Given the description of an element on the screen output the (x, y) to click on. 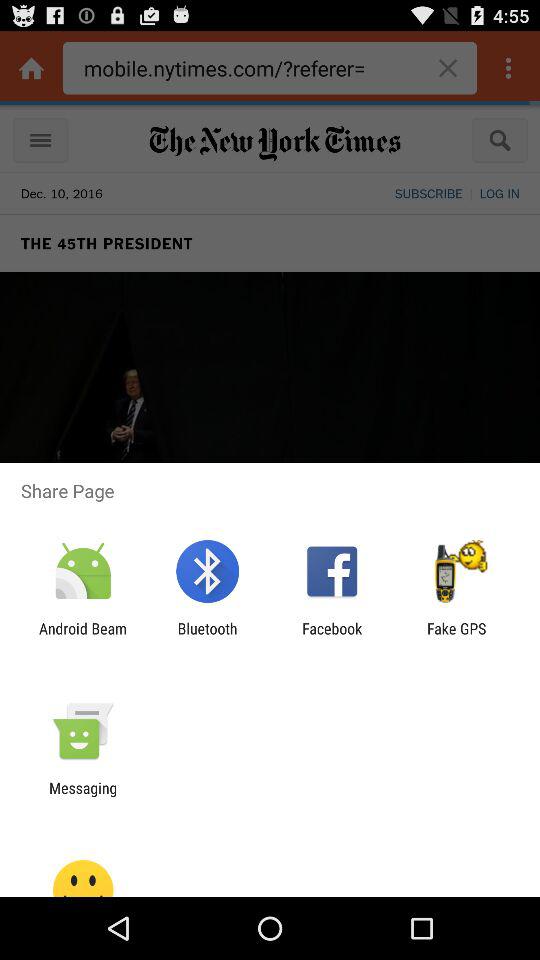
turn on app next to fake gps (332, 637)
